Given the description of an element on the screen output the (x, y) to click on. 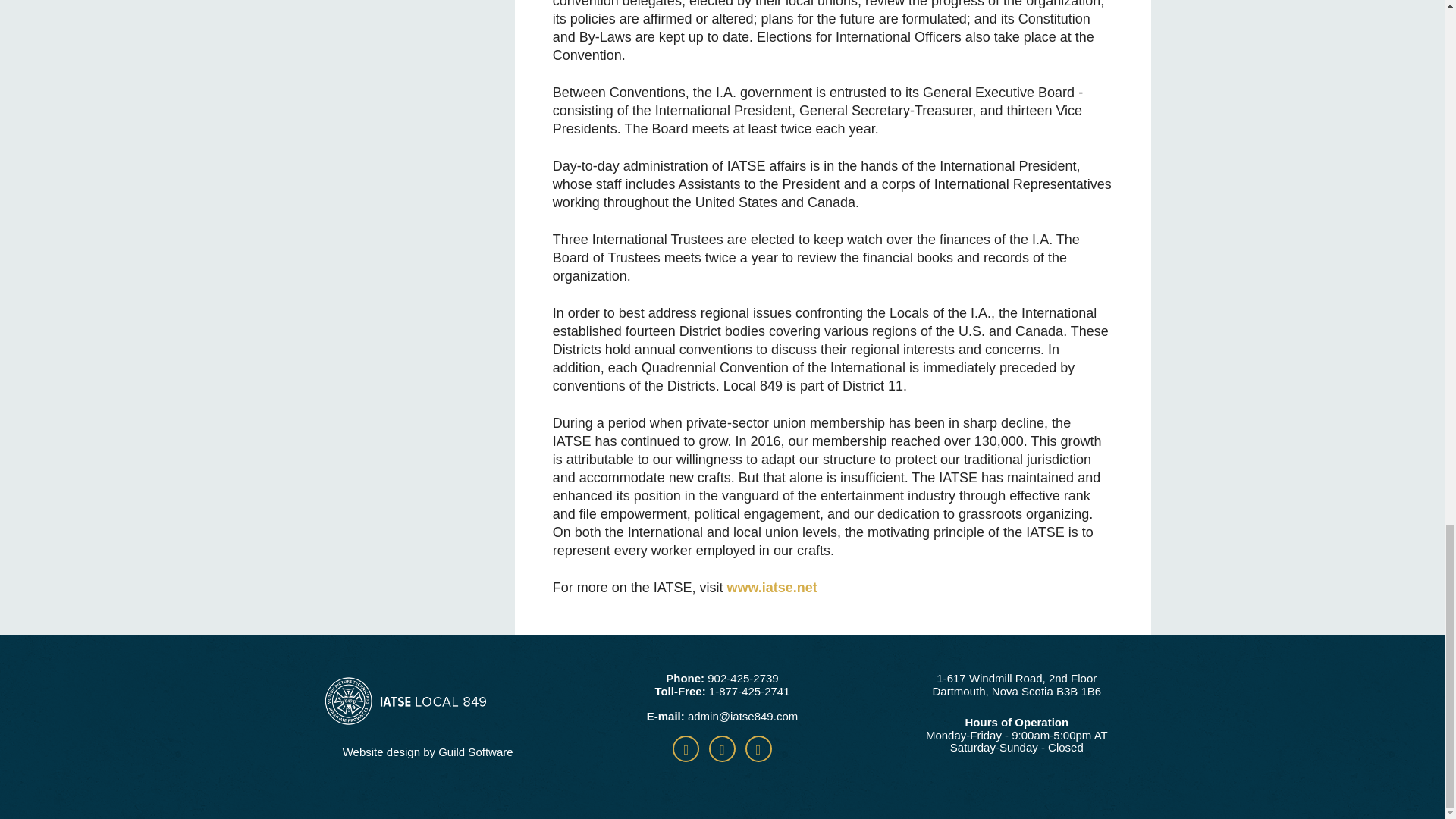
Twitter (722, 747)
Facebook (685, 747)
Instagram (757, 747)
